Given the description of an element on the screen output the (x, y) to click on. 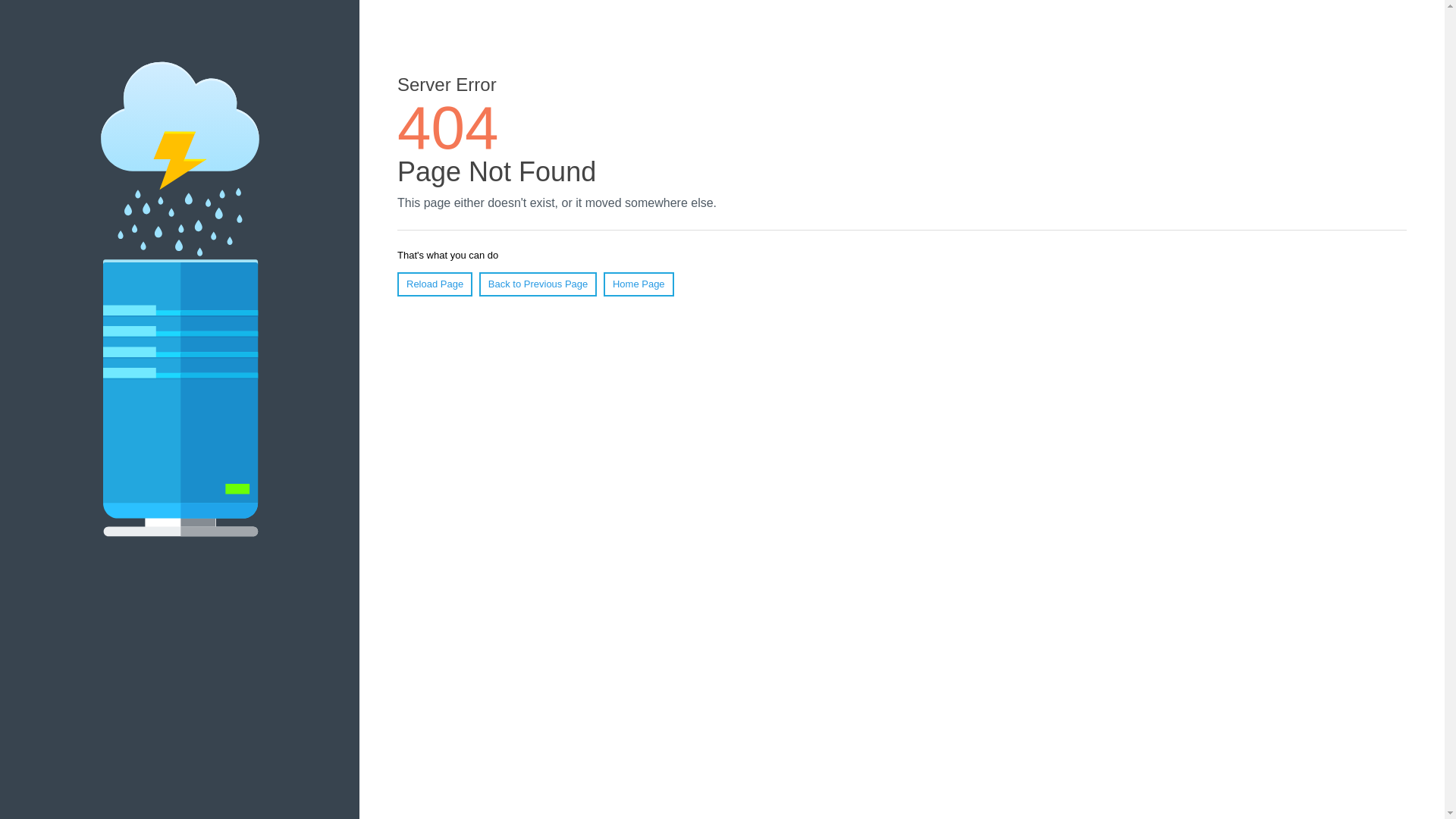
Back to Previous Page (537, 283)
Reload Page (434, 283)
Home Page (639, 283)
